Given the description of an element on the screen output the (x, y) to click on. 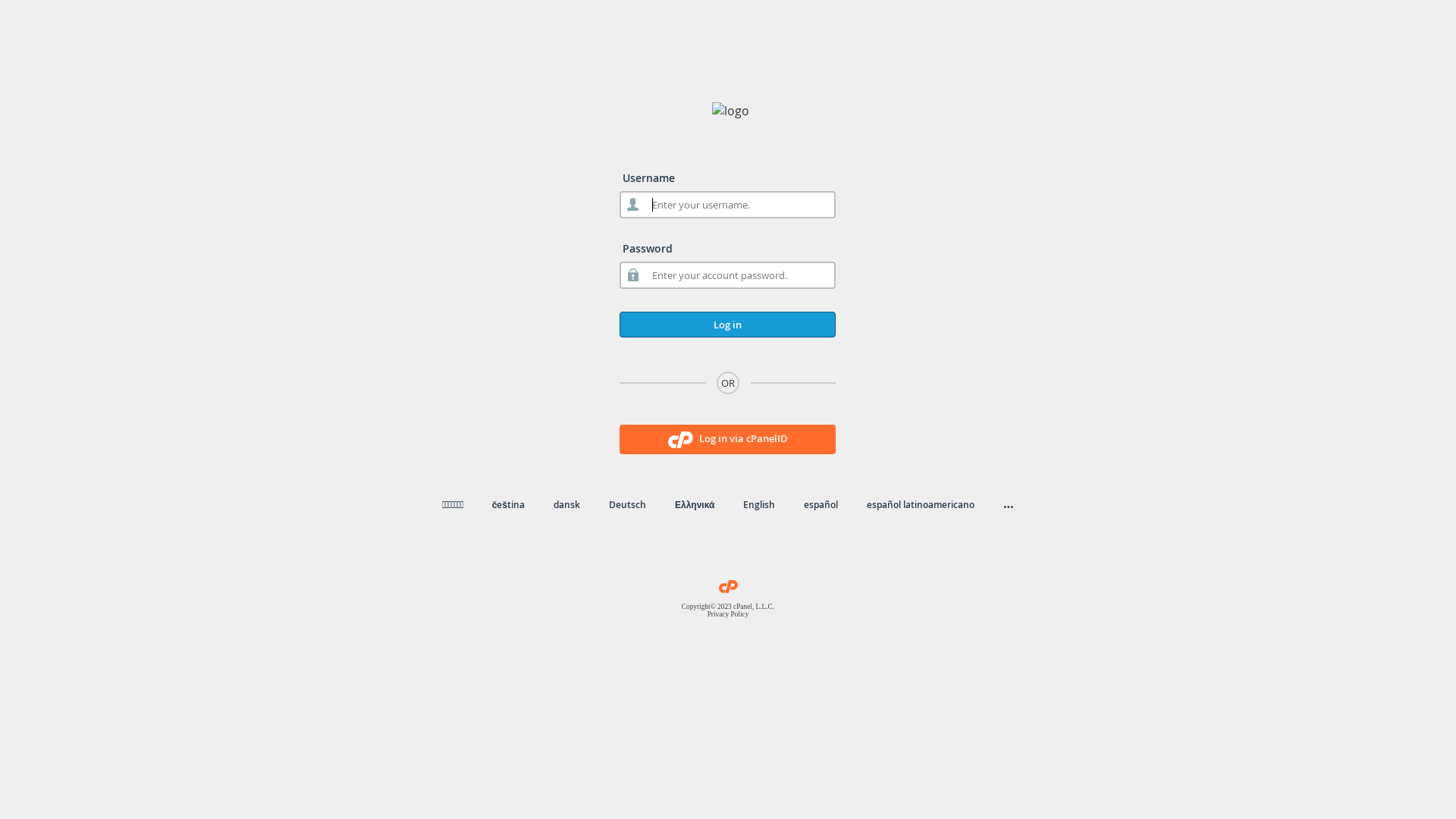
Deutsch Element type: text (627, 504)
English Element type: text (759, 504)
Log in Element type: text (727, 324)
Privacy Policy Element type: text (728, 614)
dansk Element type: text (566, 504)
Log in via cPanelID Element type: text (727, 439)
